Given the description of an element on the screen output the (x, y) to click on. 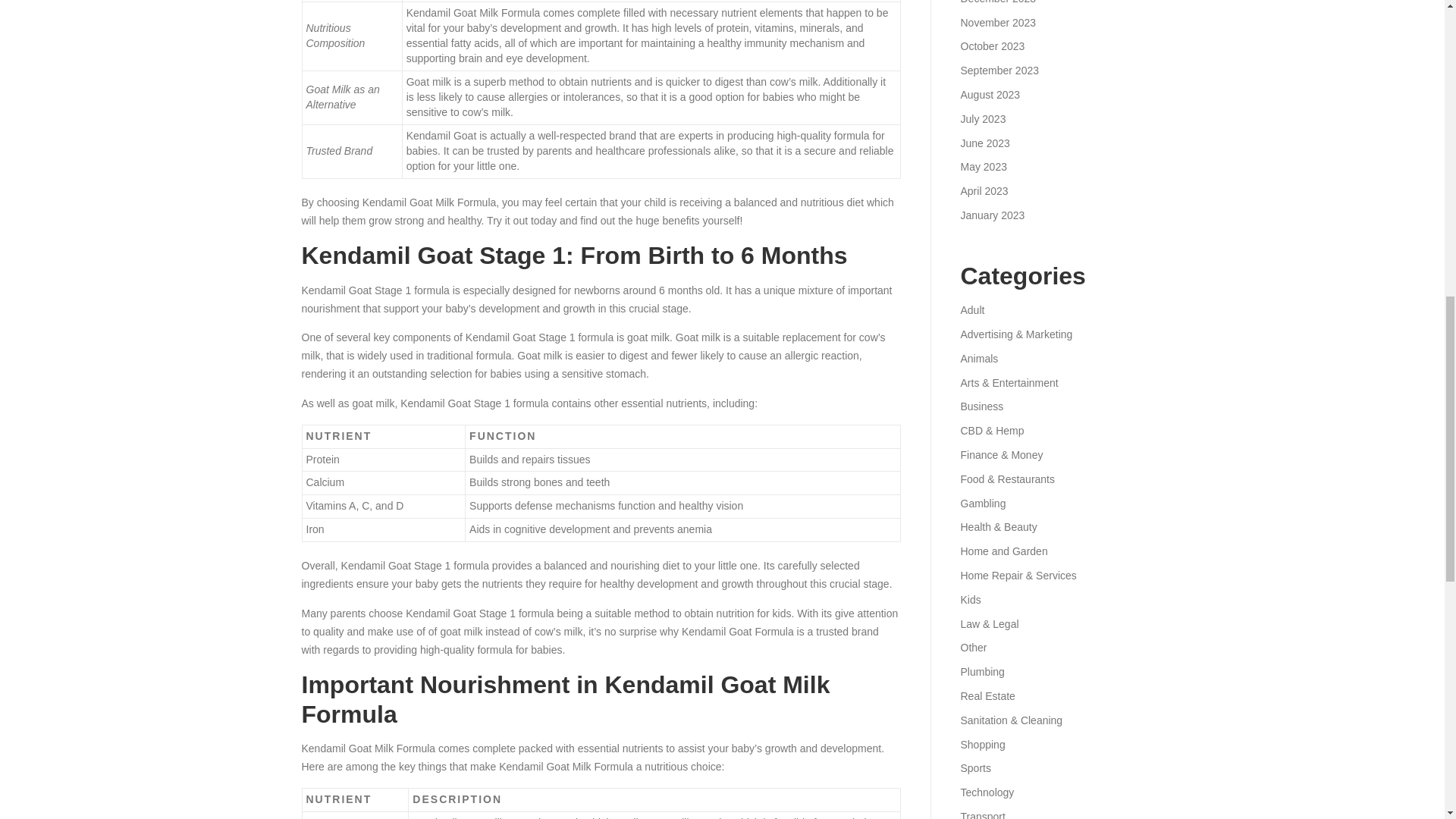
May 2023 (982, 166)
October 2023 (992, 46)
Business (981, 406)
January 2023 (992, 215)
Animals (978, 358)
June 2023 (984, 143)
July 2023 (982, 119)
September 2023 (999, 70)
November 2023 (997, 22)
August 2023 (989, 94)
